Given the description of an element on the screen output the (x, y) to click on. 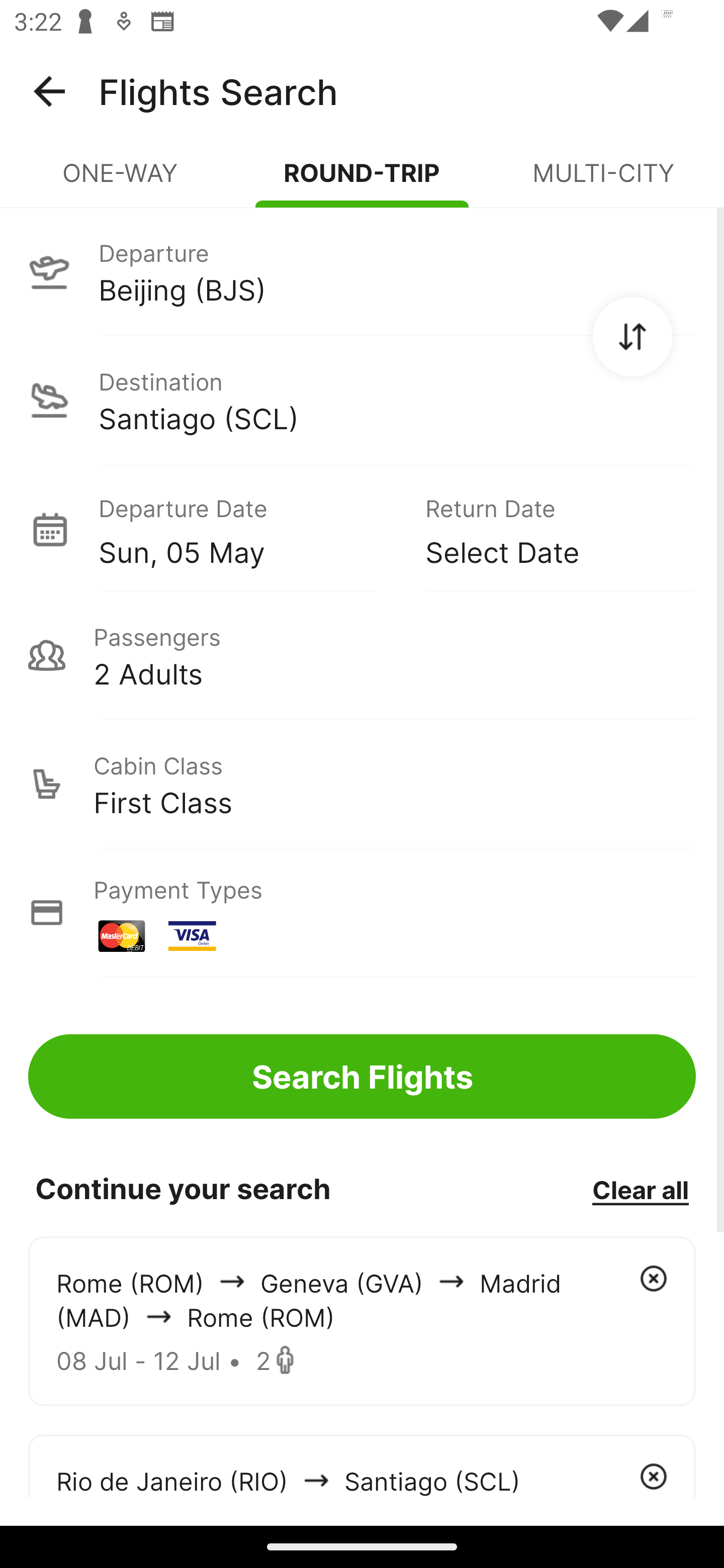
ONE-WAY (120, 180)
ROUND-TRIP (361, 180)
MULTI-CITY (603, 180)
Departure Beijing (BJS) (362, 270)
Destination Santiago (SCL) (362, 400)
Departure Date Sun, 05 May (247, 528)
Return Date Select Date (546, 528)
Passengers 2 Adults (362, 655)
Cabin Class First Class (362, 783)
Payment Types (362, 912)
Search Flights (361, 1075)
Clear all (640, 1189)
Rio de Janeiro (RIO)  arrowIcon  Santiago (SCL) (361, 1465)
